Given the description of an element on the screen output the (x, y) to click on. 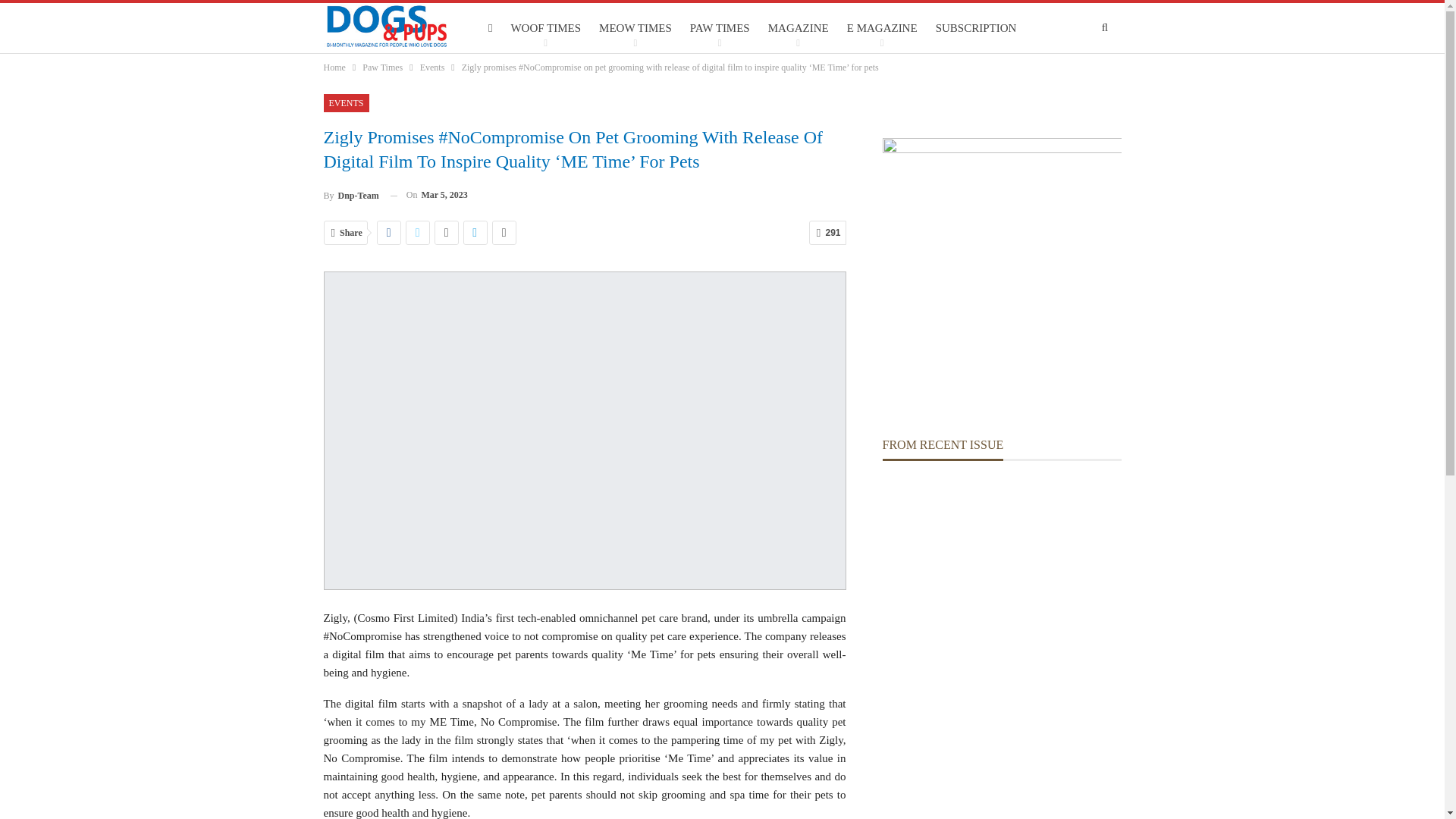
WOOF TIMES (545, 28)
MEOW TIMES (635, 28)
PAW TIMES (719, 28)
MAGAZINE (798, 28)
By Dnp-Team (350, 195)
Browse Author Articles (350, 195)
EVENTS (345, 103)
Events (432, 67)
Paw Times (382, 67)
Home (334, 67)
